Given the description of an element on the screen output the (x, y) to click on. 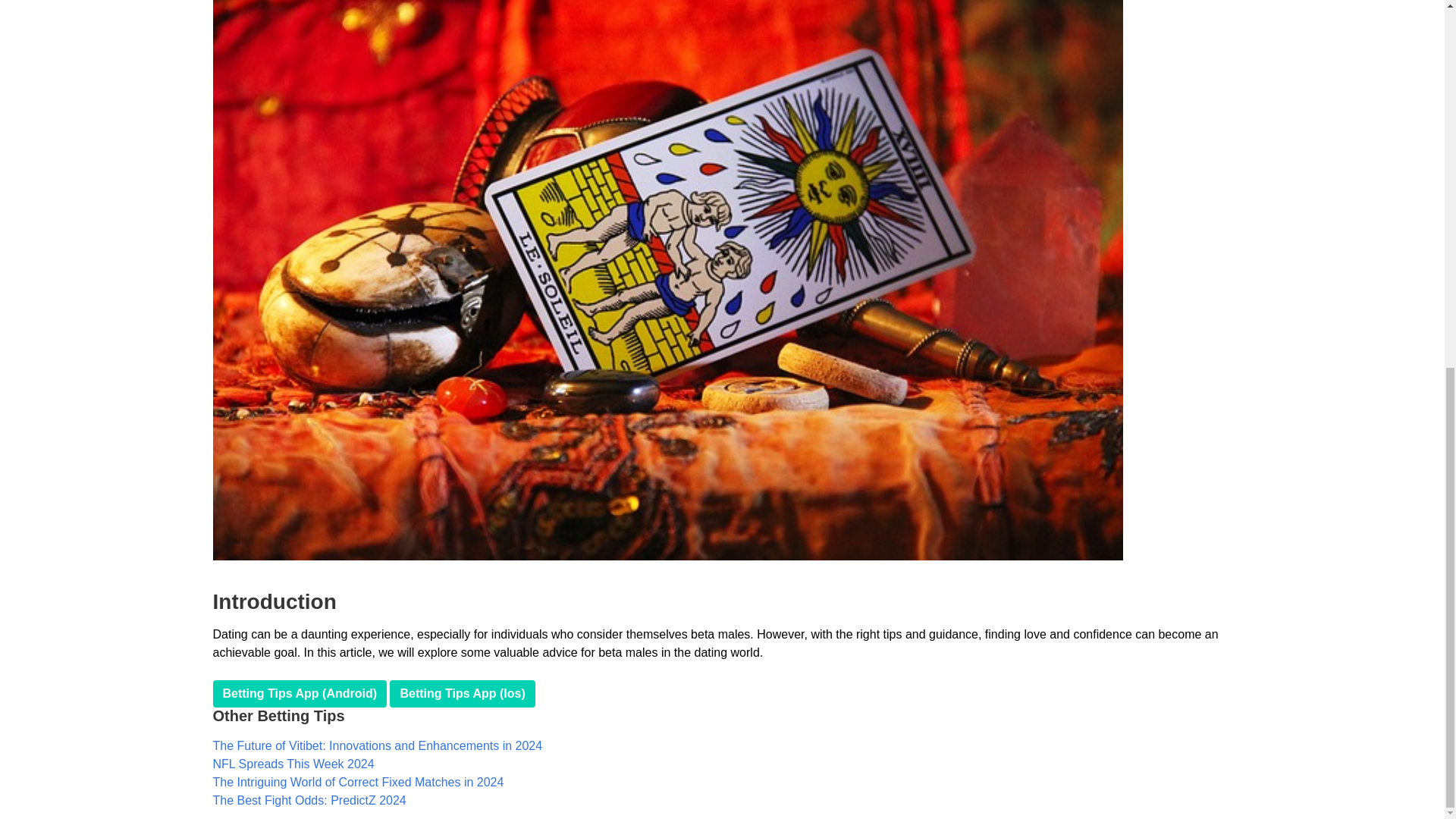
The Future of Vitibet: Innovations and Enhancements in 2024 (376, 745)
play (462, 693)
The Future of Vitibet: Innovations and Enhancements in 2024 (376, 745)
play (299, 693)
NFL Spreads This Week 2024 (293, 763)
 The Best Fight Odds: PredictZ 2024  (309, 799)
 The Intriguing World of Correct Fixed Matches in 2024  (357, 781)
The Intriguing World of Correct Fixed Matches in 2024 (357, 781)
The Best Fight Odds: PredictZ 2024 (309, 799)
NFL Spreads This Week 2024 (293, 763)
